Given the description of an element on the screen output the (x, y) to click on. 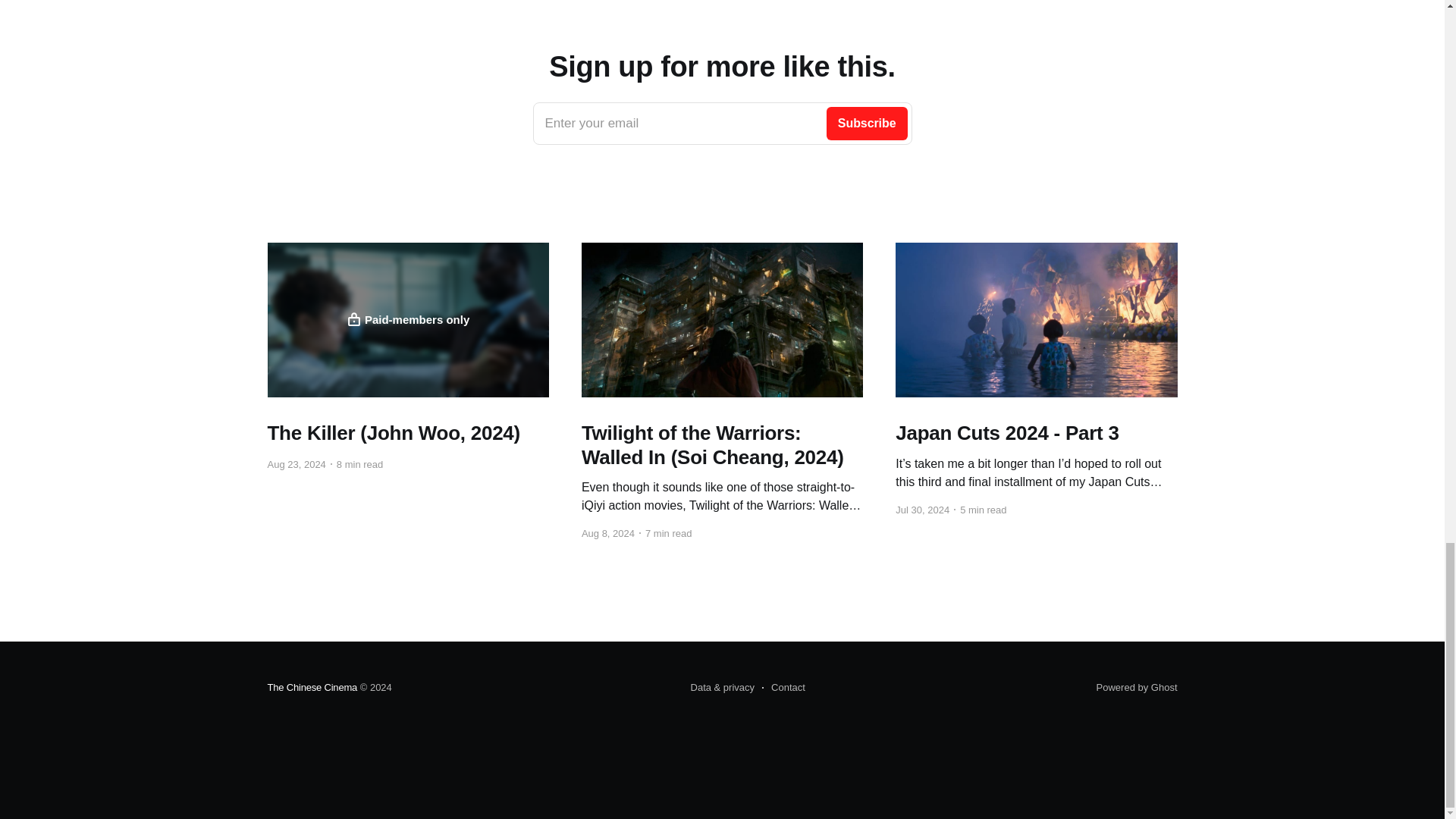
Paid-members only (721, 123)
Powered by Ghost (407, 319)
The Chinese Cinema (1136, 686)
Contact (311, 686)
